Given the description of an element on the screen output the (x, y) to click on. 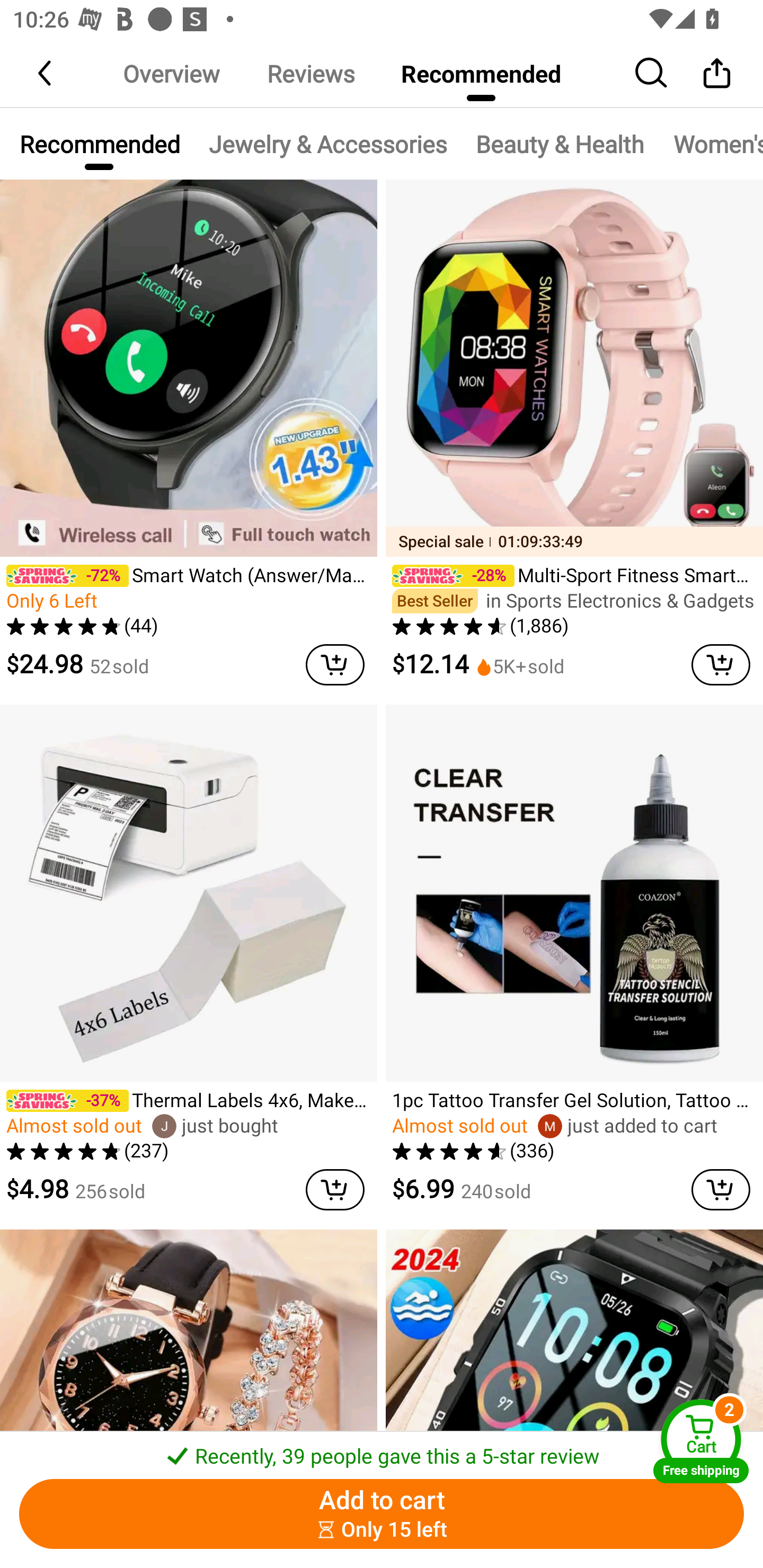
Overview (171, 72)
Reviews (310, 72)
Recommended (480, 72)
Back (46, 72)
Share (716, 72)
Recommended (98, 144)
Jewelry & Accessories (327, 144)
Beauty & Health (559, 144)
cart delete (334, 664)
cart delete (720, 664)
cart delete (334, 1189)
cart delete (720, 1189)
Cart Free shipping Cart (701, 1440)
￼￼Recently, 39 people gave this a 5-star review (381, 1450)
Add to cart ￼￼Only 15 left (381, 1513)
